Given the description of an element on the screen output the (x, y) to click on. 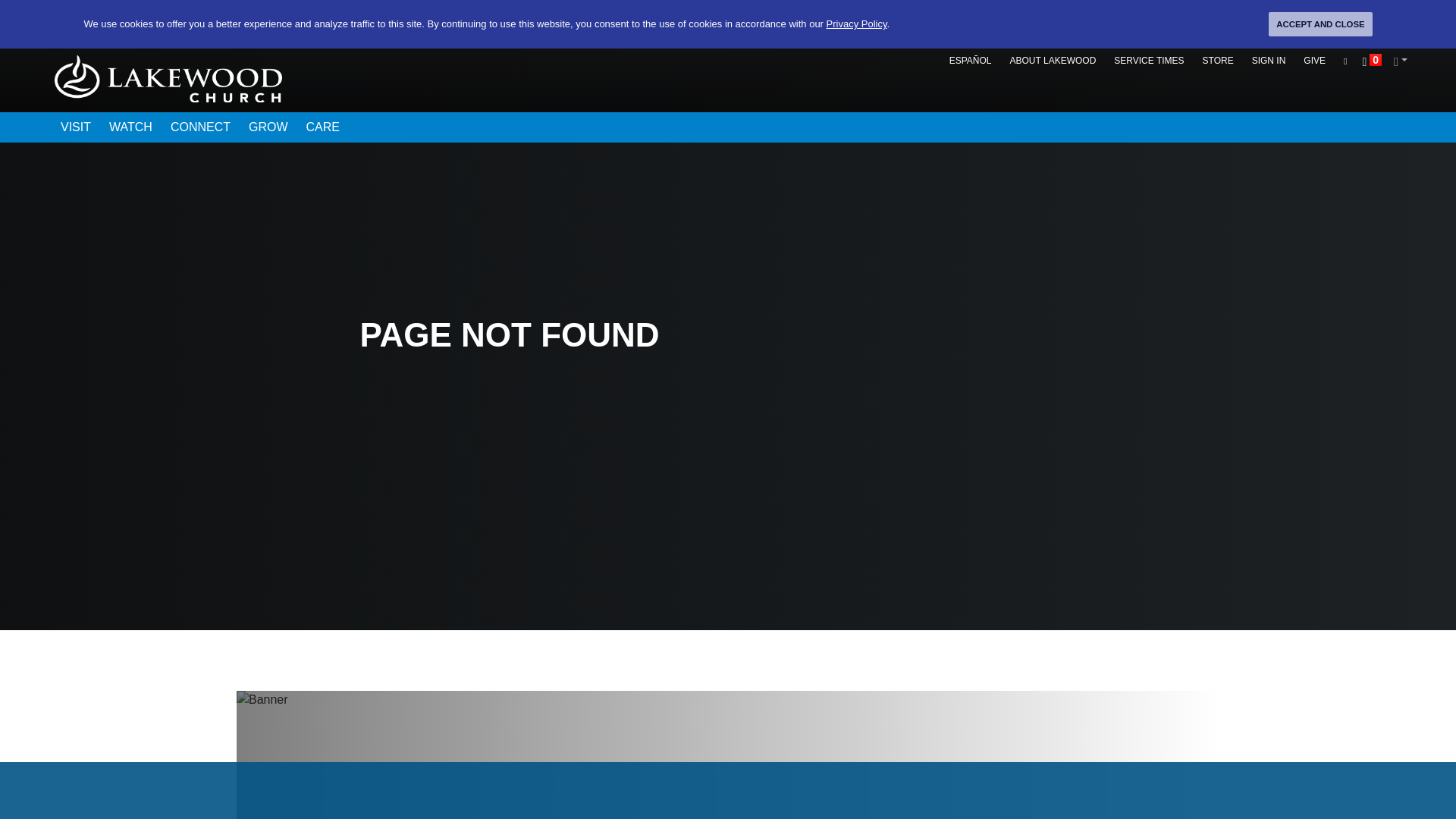
SIGN IN (1269, 60)
ABOUT LAKEWOOD (1053, 60)
STORE (1218, 60)
Privacy Policy (856, 23)
ACCEPT AND CLOSE (1319, 24)
SERVICE TIMES (1148, 60)
